Given the description of an element on the screen output the (x, y) to click on. 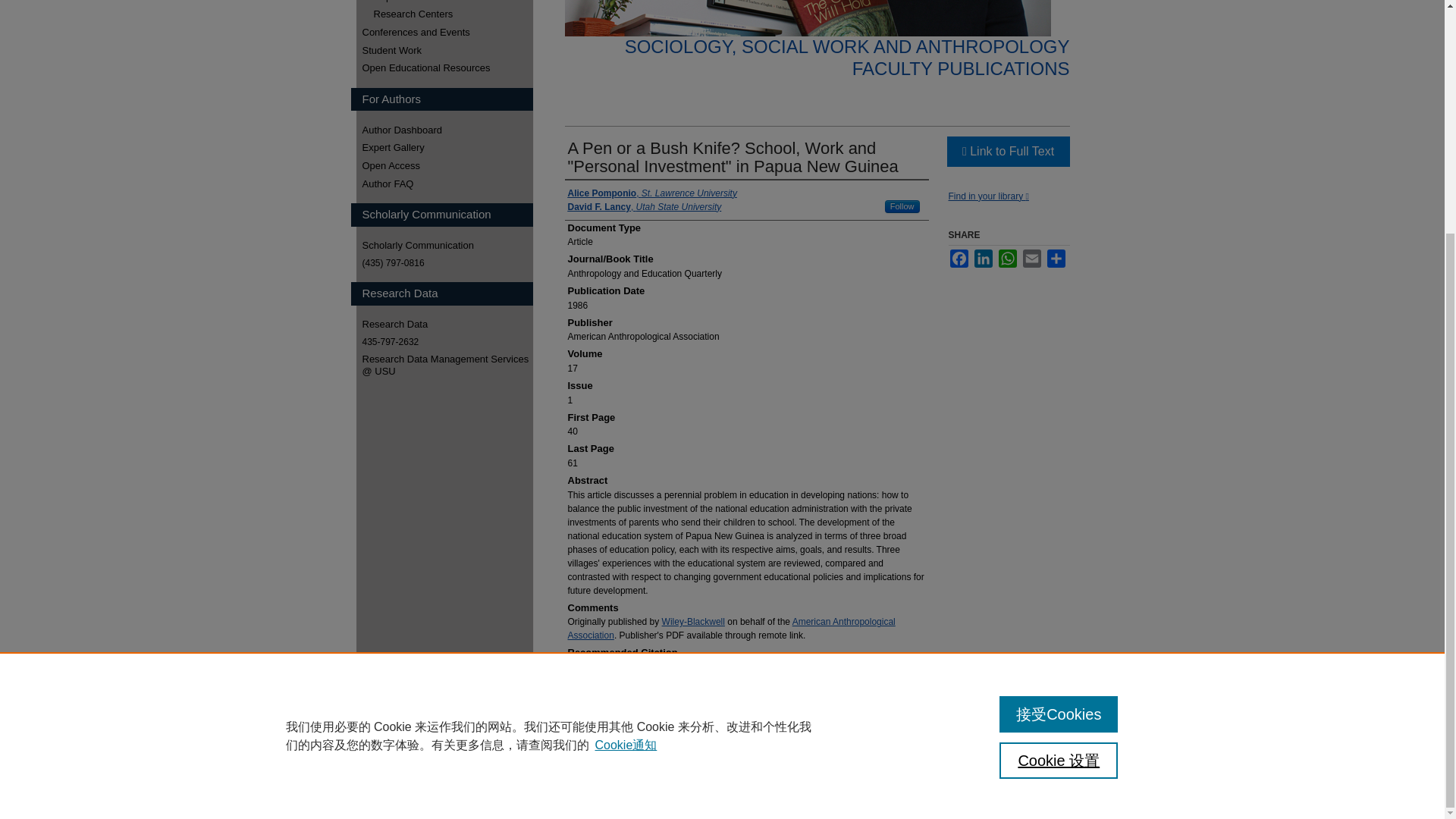
David F. Lancy, Utah State University (643, 206)
SOCIOLOGY, SOCIAL WORK AND ANTHROPOLOGY FACULTY PUBLICATIONS (847, 57)
American Anthropological Association (731, 628)
LinkedIn (982, 258)
Link opens in new window (1007, 151)
Facebook (958, 258)
OpenURL (987, 195)
Link to Full Text (1007, 151)
Follow (902, 205)
Email (1031, 258)
WhatsApp (1006, 258)
Follow David F. Lancy (902, 205)
Alice Pomponio, St. Lawrence University (651, 192)
Find in your library (987, 195)
Wiley-Blackwell (693, 621)
